Given the description of an element on the screen output the (x, y) to click on. 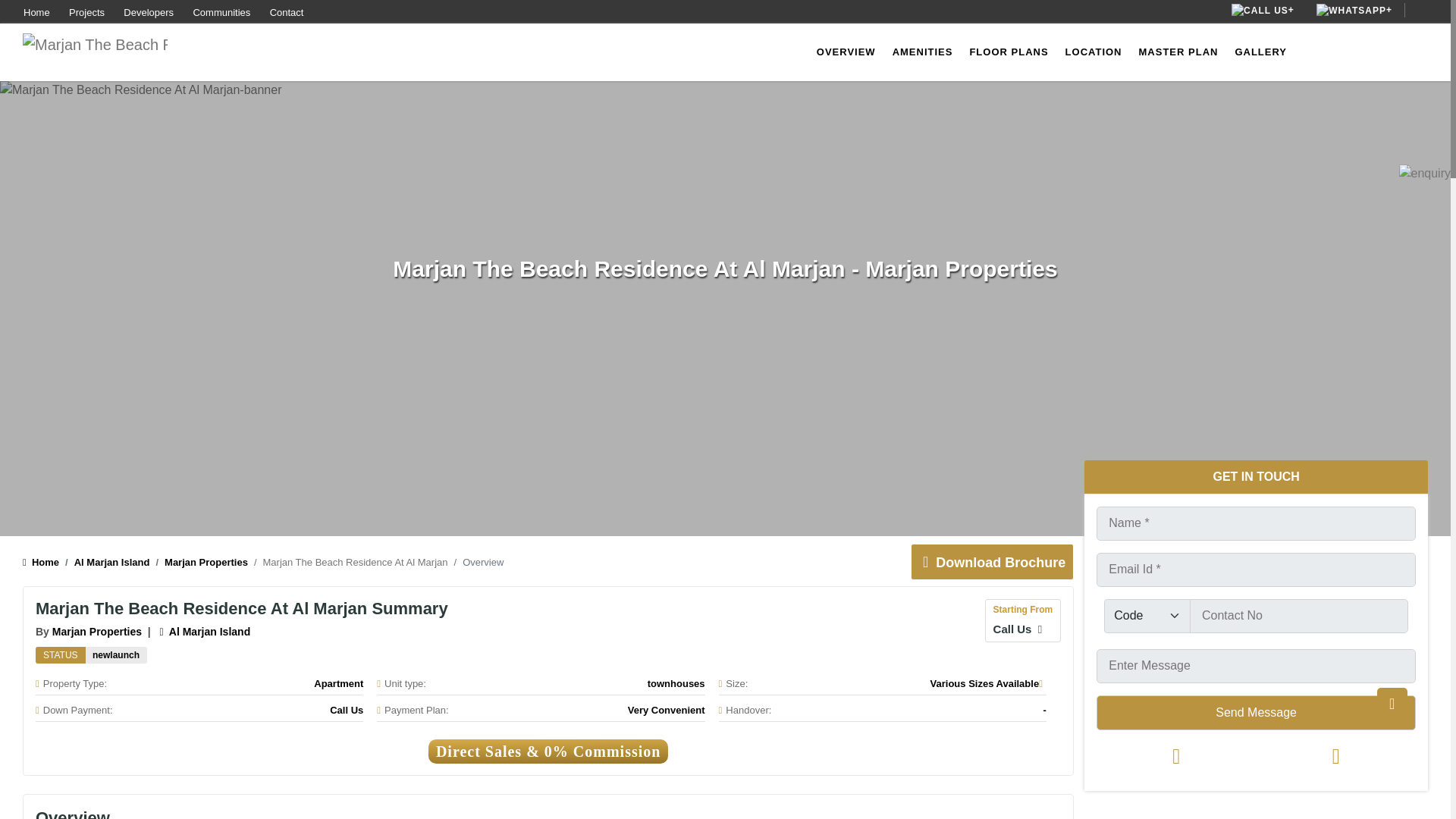
Contact (287, 12)
Marjan The Beach Residence At Al Marjan (116, 655)
Al Marjan Island (104, 562)
GALLERY (1260, 52)
Download Brochure (990, 562)
OVERVIEW (846, 52)
Send Message (1255, 711)
  Home (41, 562)
Home (36, 12)
Marjan Properties (96, 631)
